Given the description of an element on the screen output the (x, y) to click on. 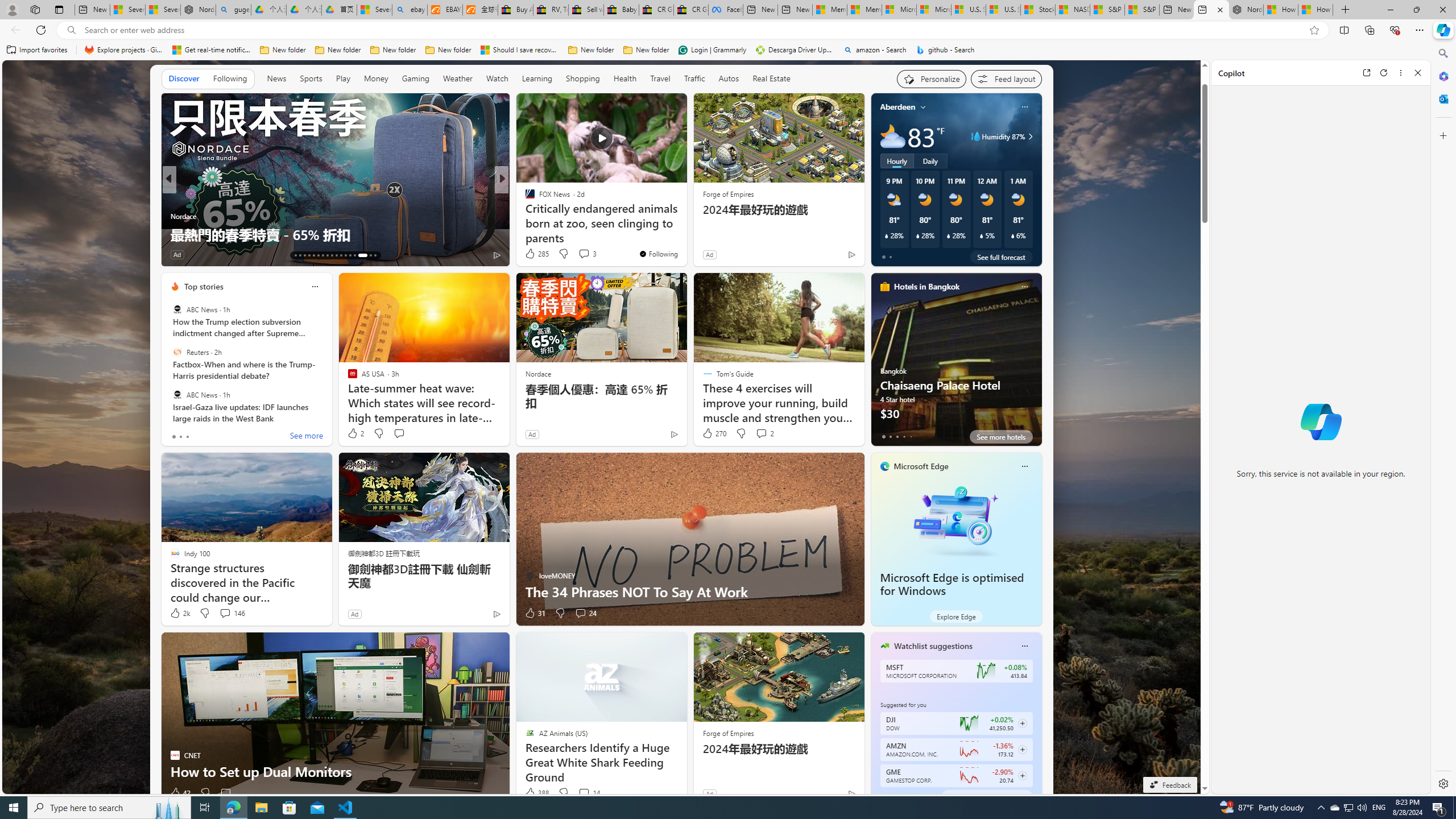
Refresh (1383, 72)
AutomationID: tab-14 (299, 255)
AutomationID: tab-23 (340, 255)
Autos (728, 79)
AutomationID: tab-24 (345, 255)
My location (922, 106)
AutomationID: tab-42 (374, 255)
Back (13, 29)
AutomationID: tab-15 (304, 255)
Play (342, 78)
AutomationID: tab-21 (331, 255)
Money (376, 78)
View comments 146 Comment (231, 612)
